Given the description of an element on the screen output the (x, y) to click on. 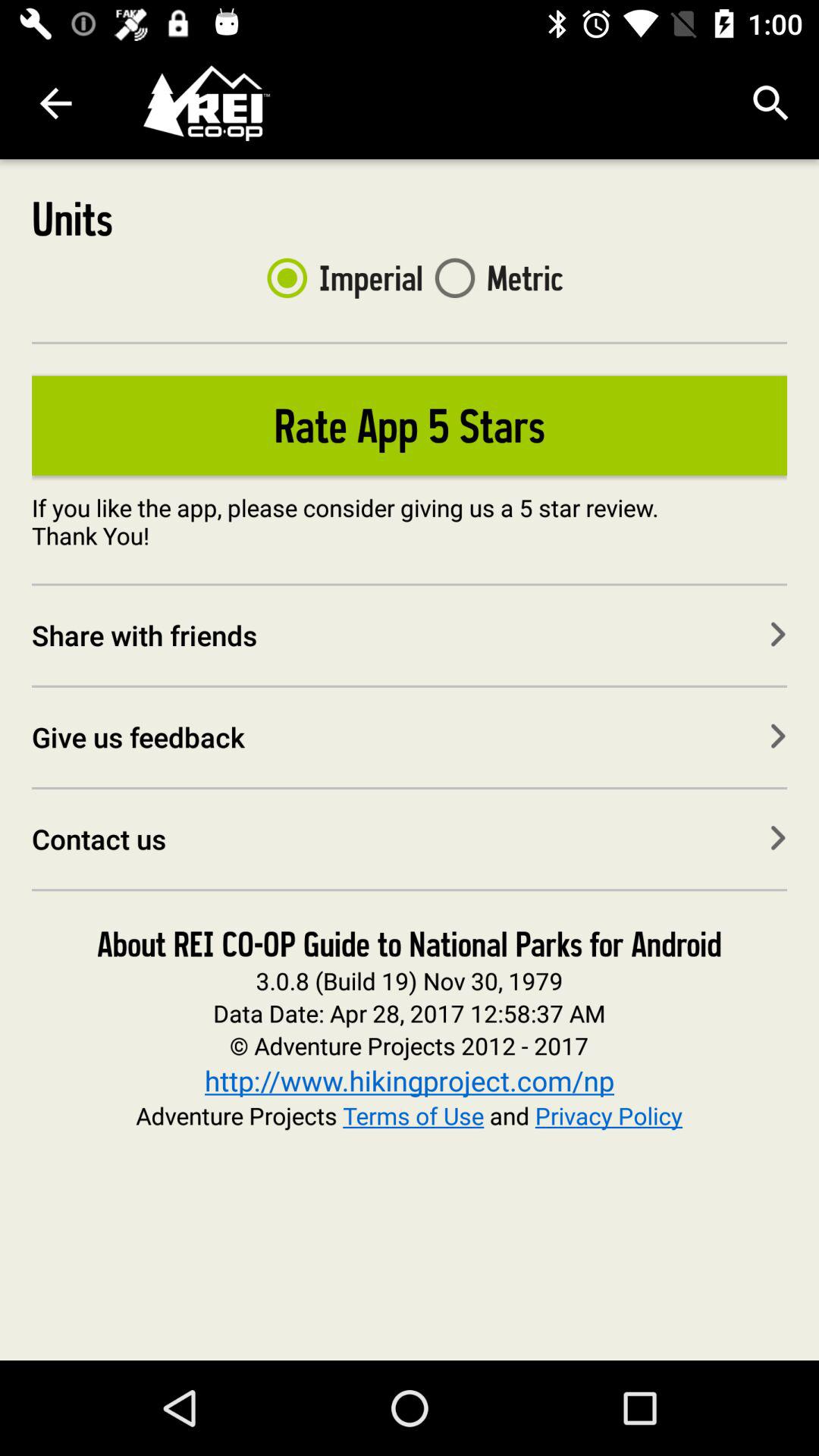
turn off imperial item (339, 277)
